Given the description of an element on the screen output the (x, y) to click on. 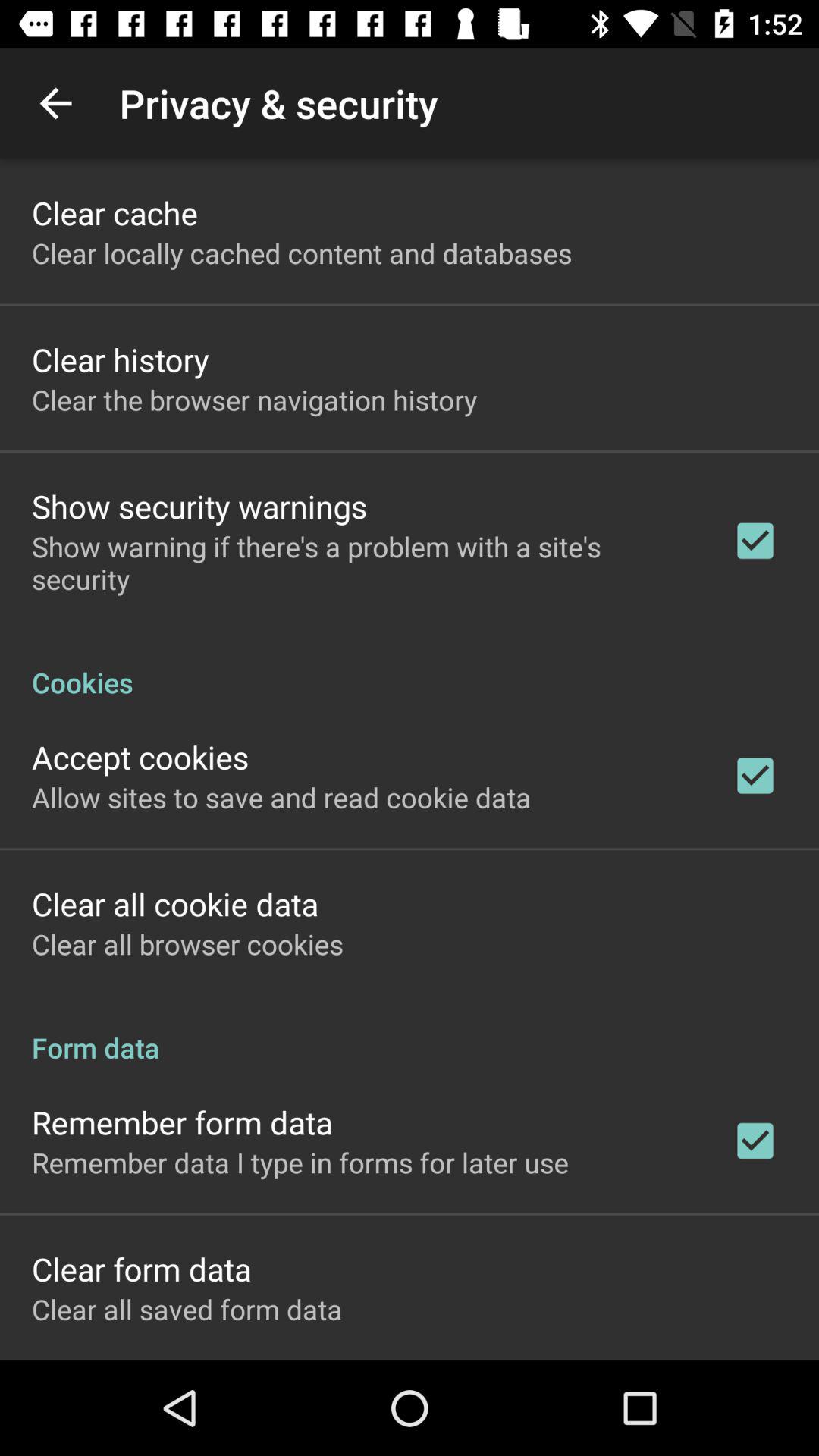
turn on icon above cookies app (361, 562)
